Given the description of an element on the screen output the (x, y) to click on. 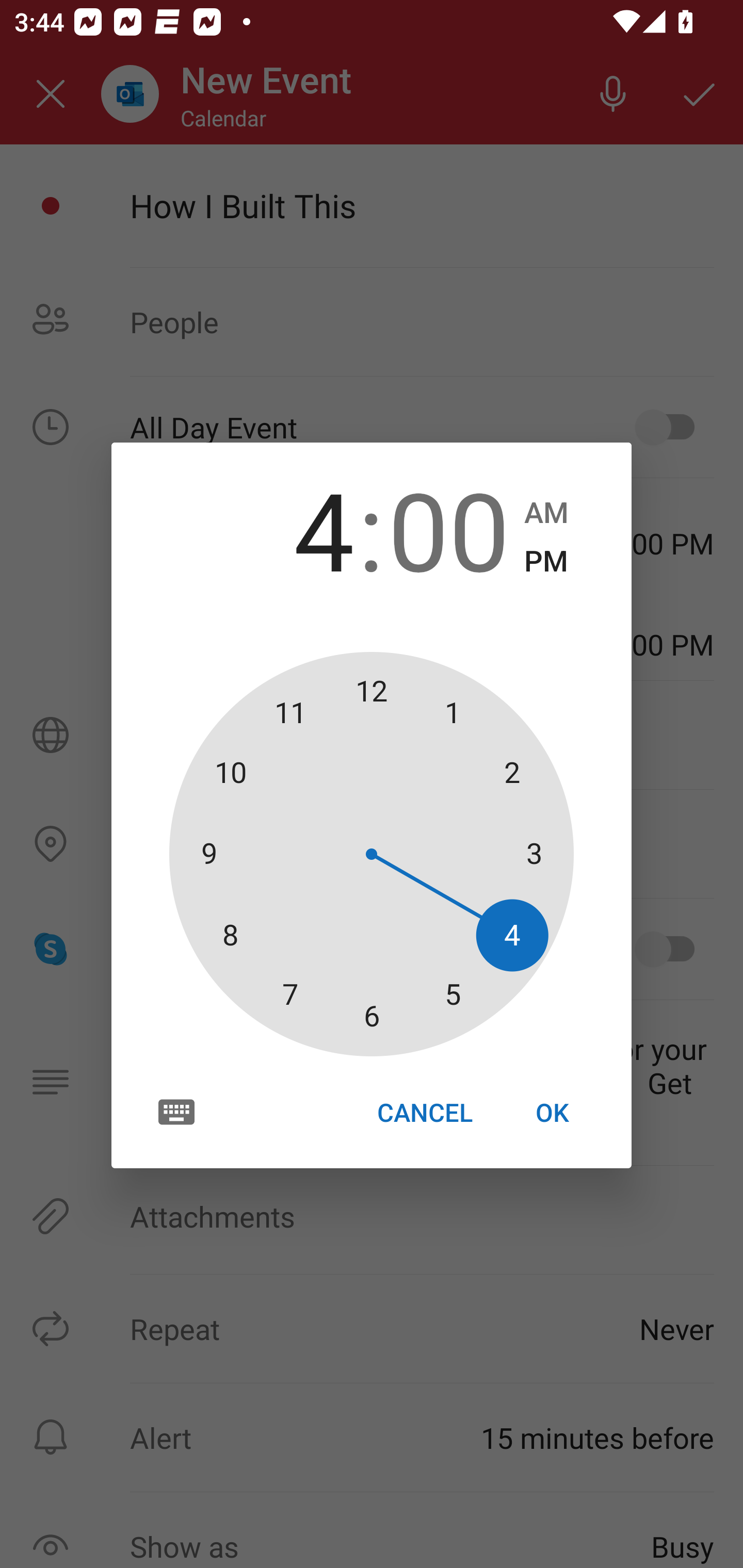
4 (293, 528)
00 (448, 528)
AM (546, 512)
PM (546, 560)
CANCEL (424, 1111)
OK (552, 1111)
Switch to text input mode for the time input. (175, 1112)
